Given the description of an element on the screen output the (x, y) to click on. 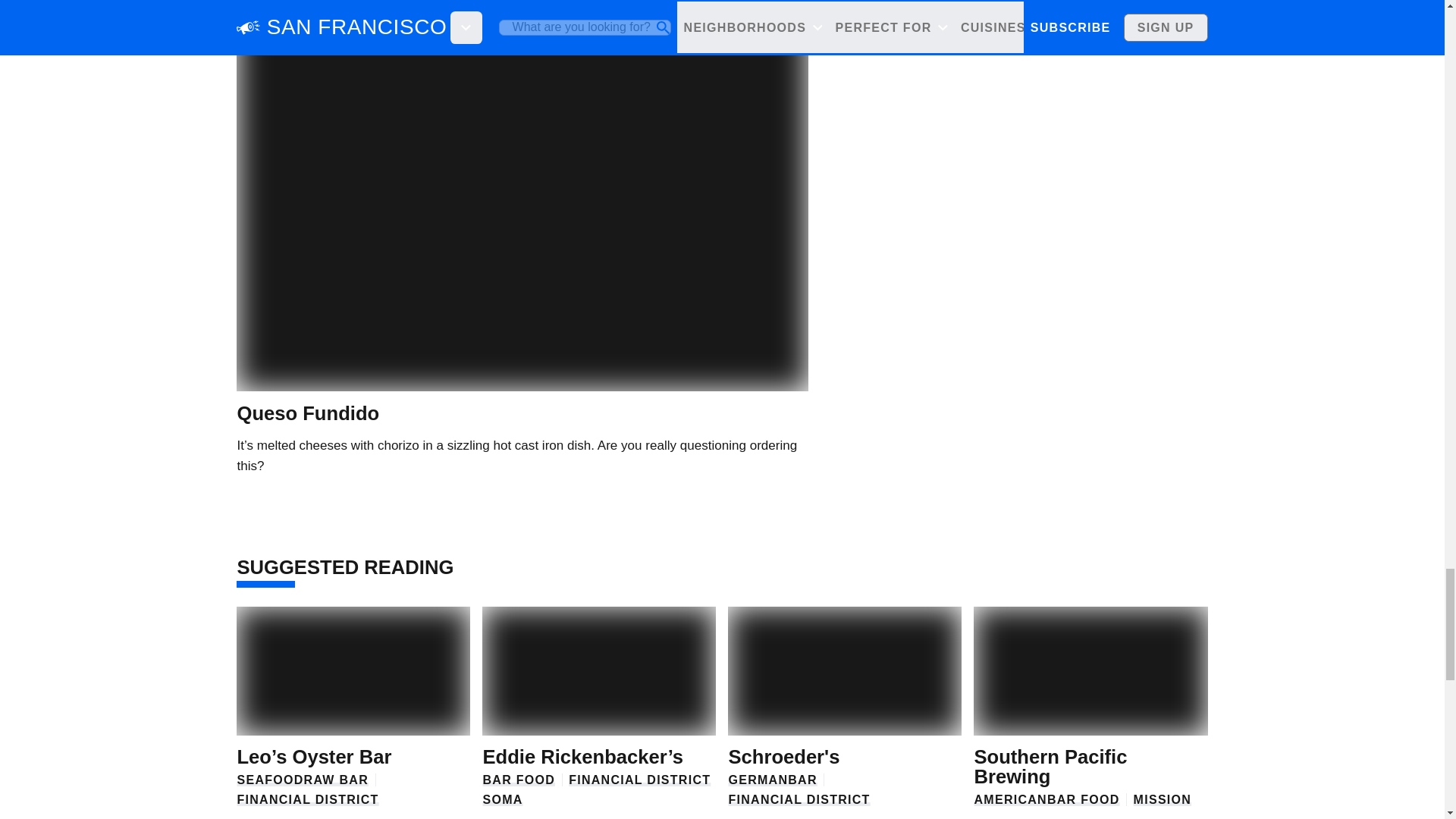
BAR FOOD (517, 779)
RAW BAR (336, 779)
Schroeder's (784, 756)
FINANCIAL DISTRICT (306, 799)
GERMAN (757, 779)
FINANCIAL DISTRICT (639, 779)
FINANCIAL DISTRICT (798, 799)
Southern Pacific Brewing (1050, 766)
BAR (801, 779)
SEAFOOD (268, 779)
SOMA (501, 799)
